Given the description of an element on the screen output the (x, y) to click on. 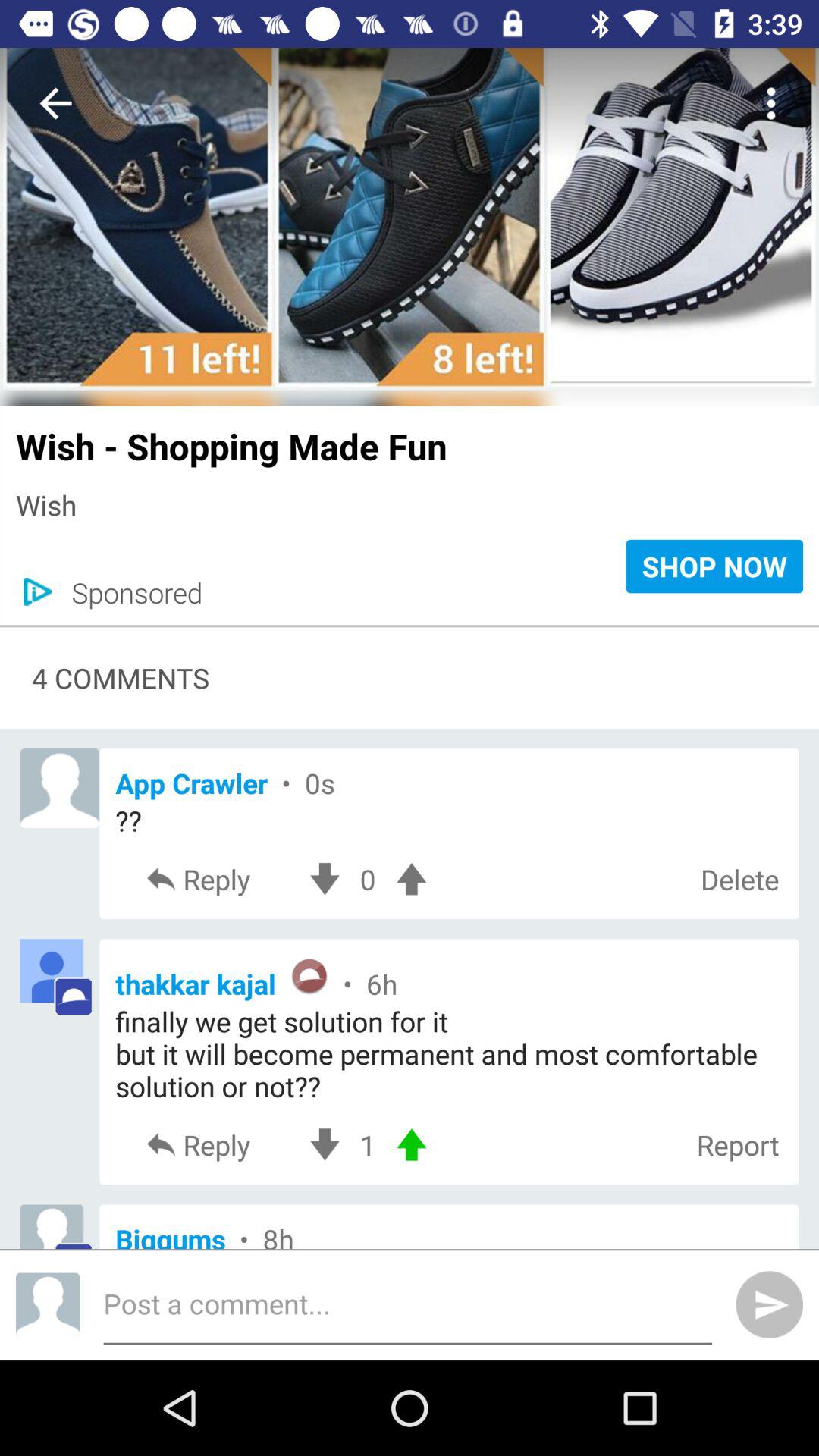
swipe to the sponsored icon (128, 592)
